Given the description of an element on the screen output the (x, y) to click on. 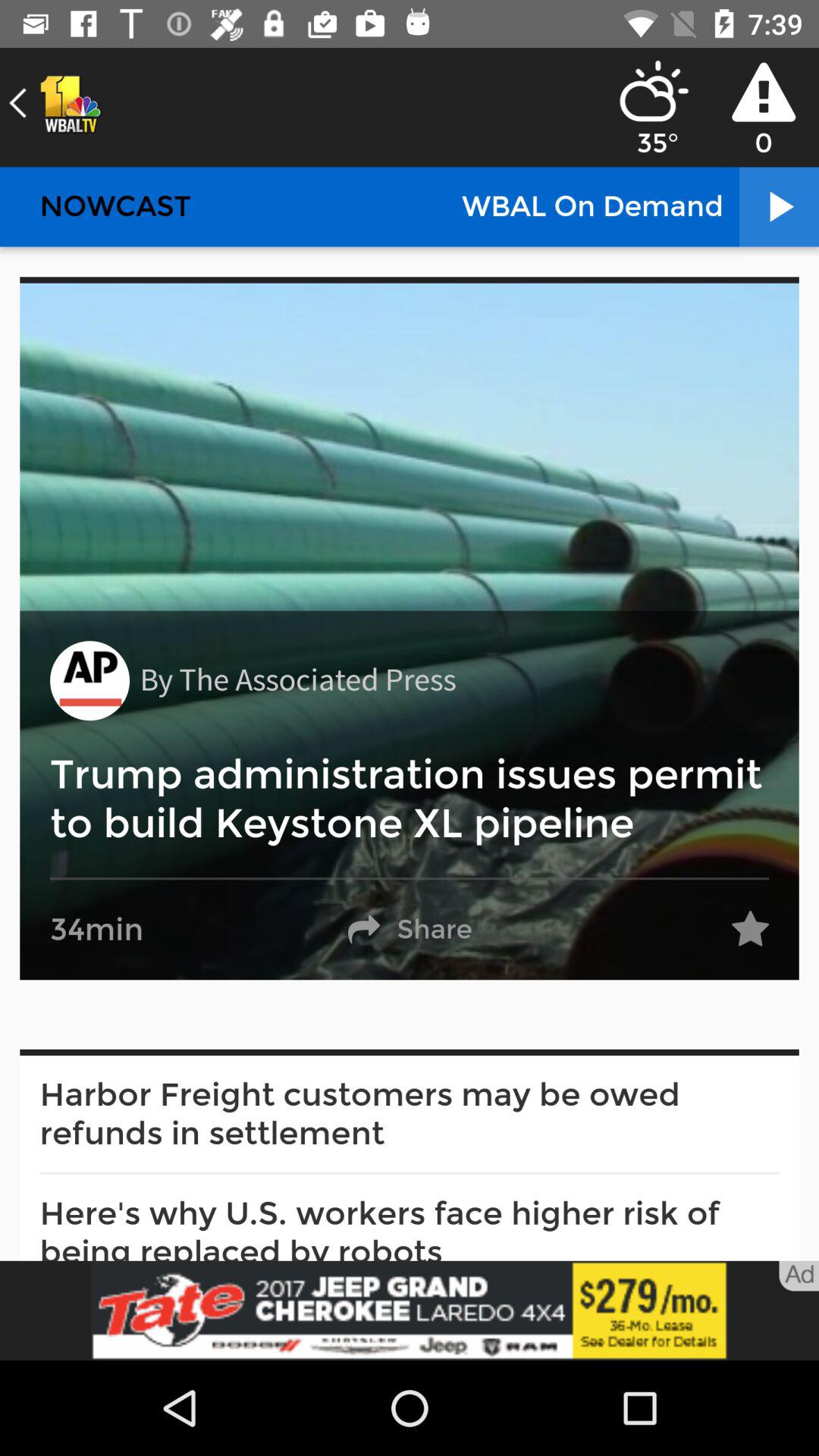
go to advertisement (409, 1310)
